Given the description of an element on the screen output the (x, y) to click on. 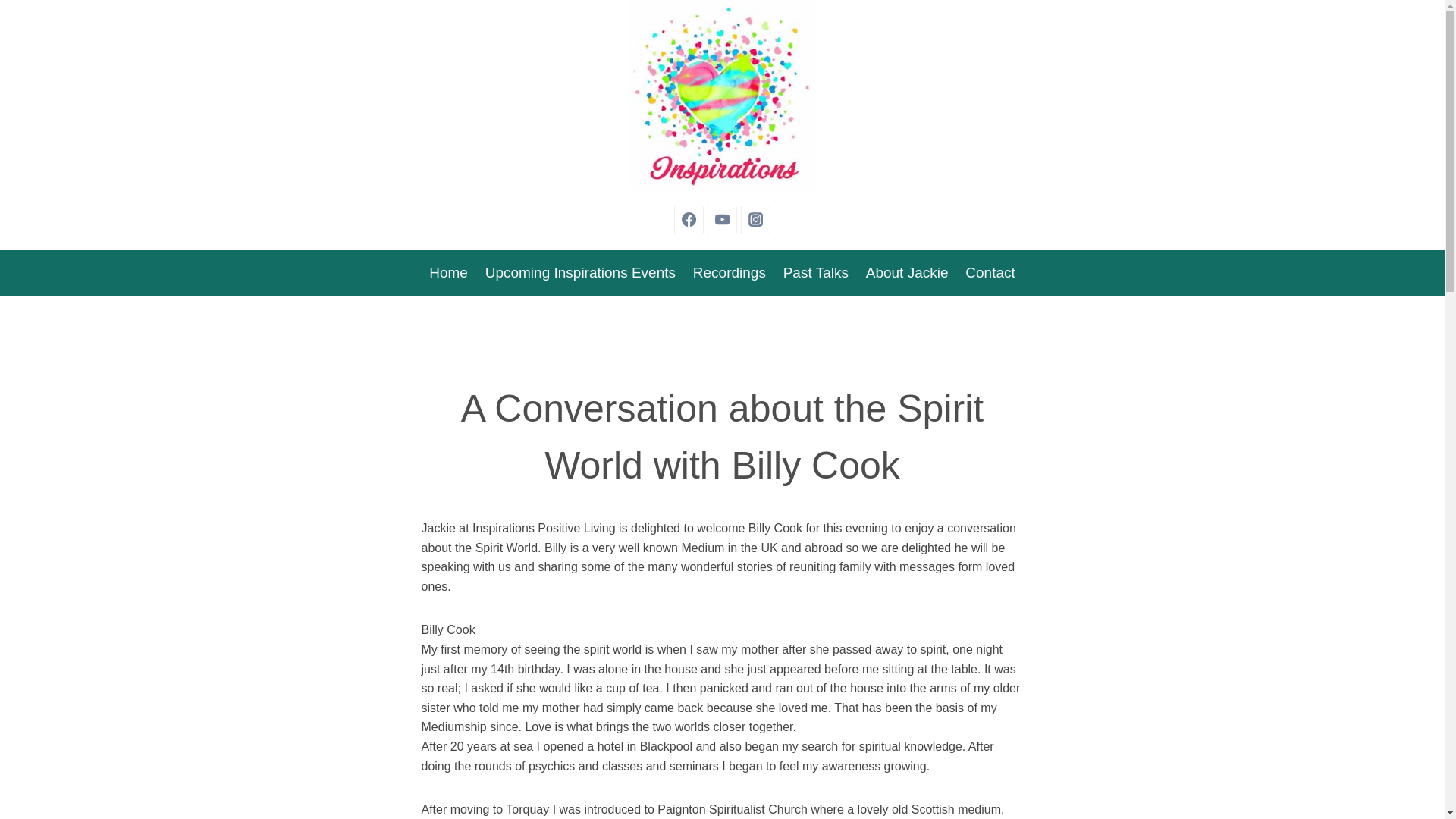
About Jackie (906, 272)
Contact (989, 272)
Past Talks (815, 272)
Recordings (729, 272)
Home (448, 272)
Upcoming Inspirations Events (580, 272)
